Given the description of an element on the screen output the (x, y) to click on. 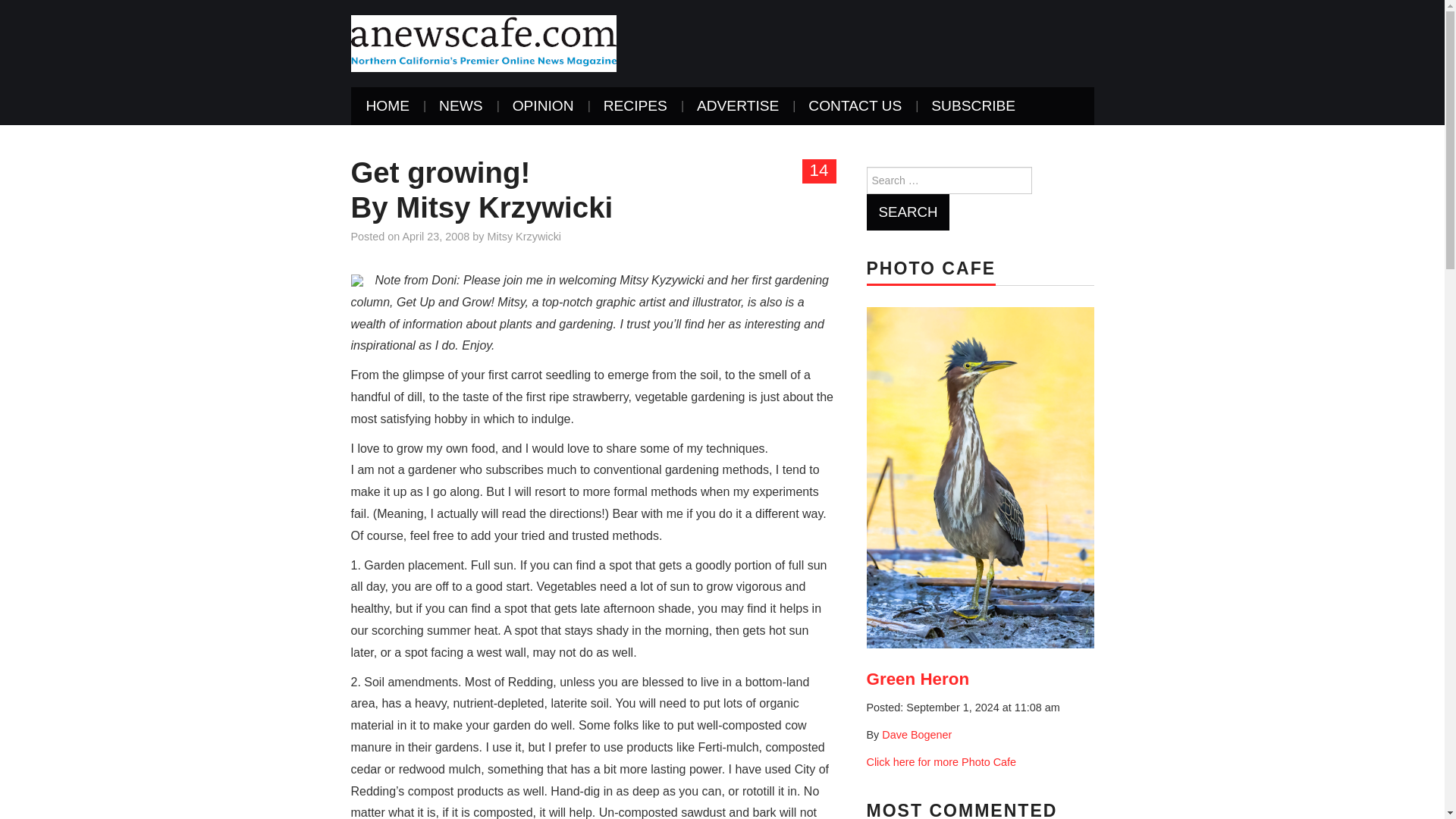
Dave Bogener (917, 734)
anewscafe.com (482, 42)
Mitsy Krzywicki (524, 236)
NEWS (460, 105)
Search (907, 212)
14 (818, 170)
RECIPES (635, 105)
9:29 pm (436, 236)
Click here for more Photo Cafe (941, 761)
ADVERTISE (737, 105)
